Given the description of an element on the screen output the (x, y) to click on. 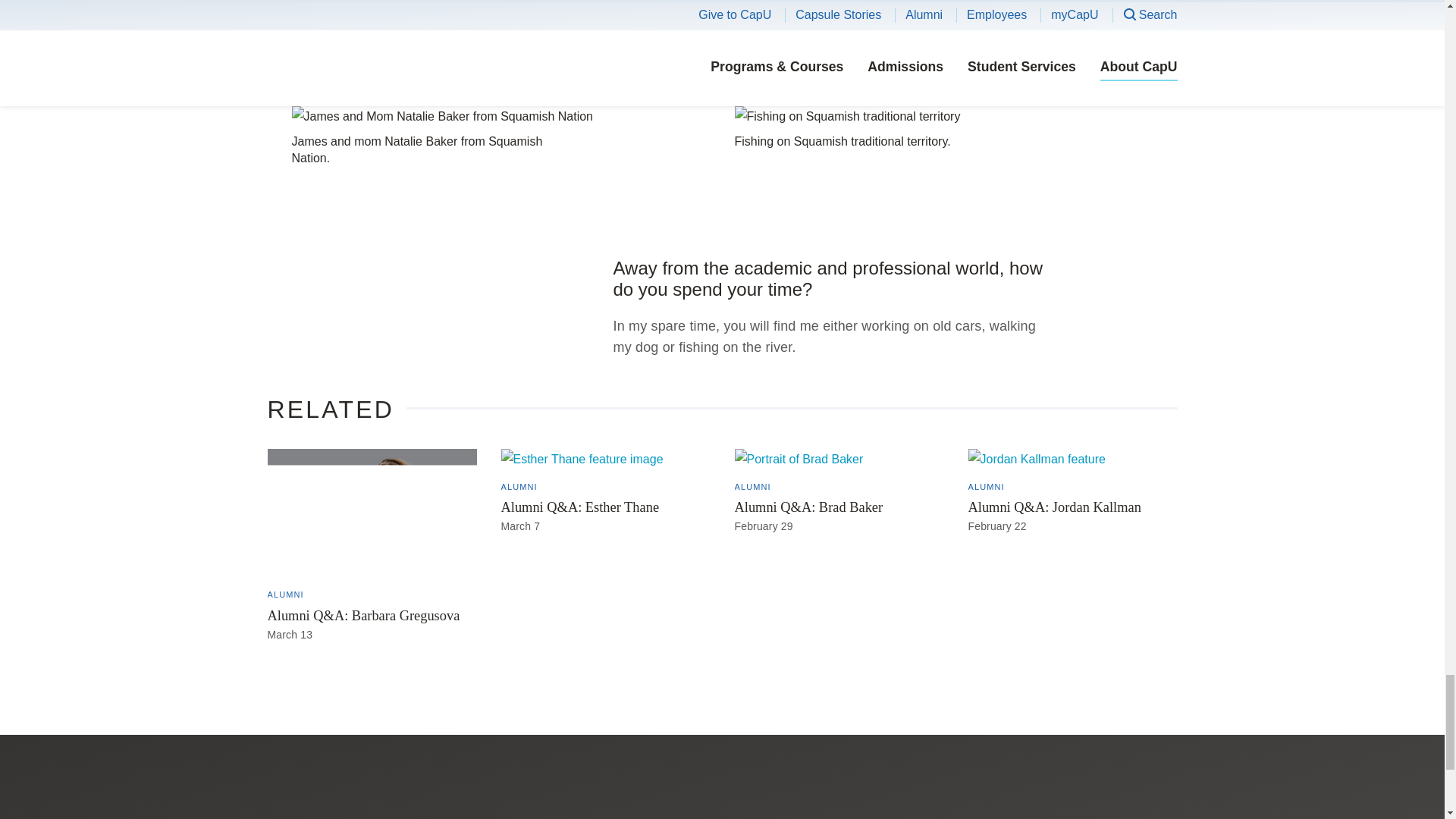
Capilano University (383, 806)
